Given the description of an element on the screen output the (x, y) to click on. 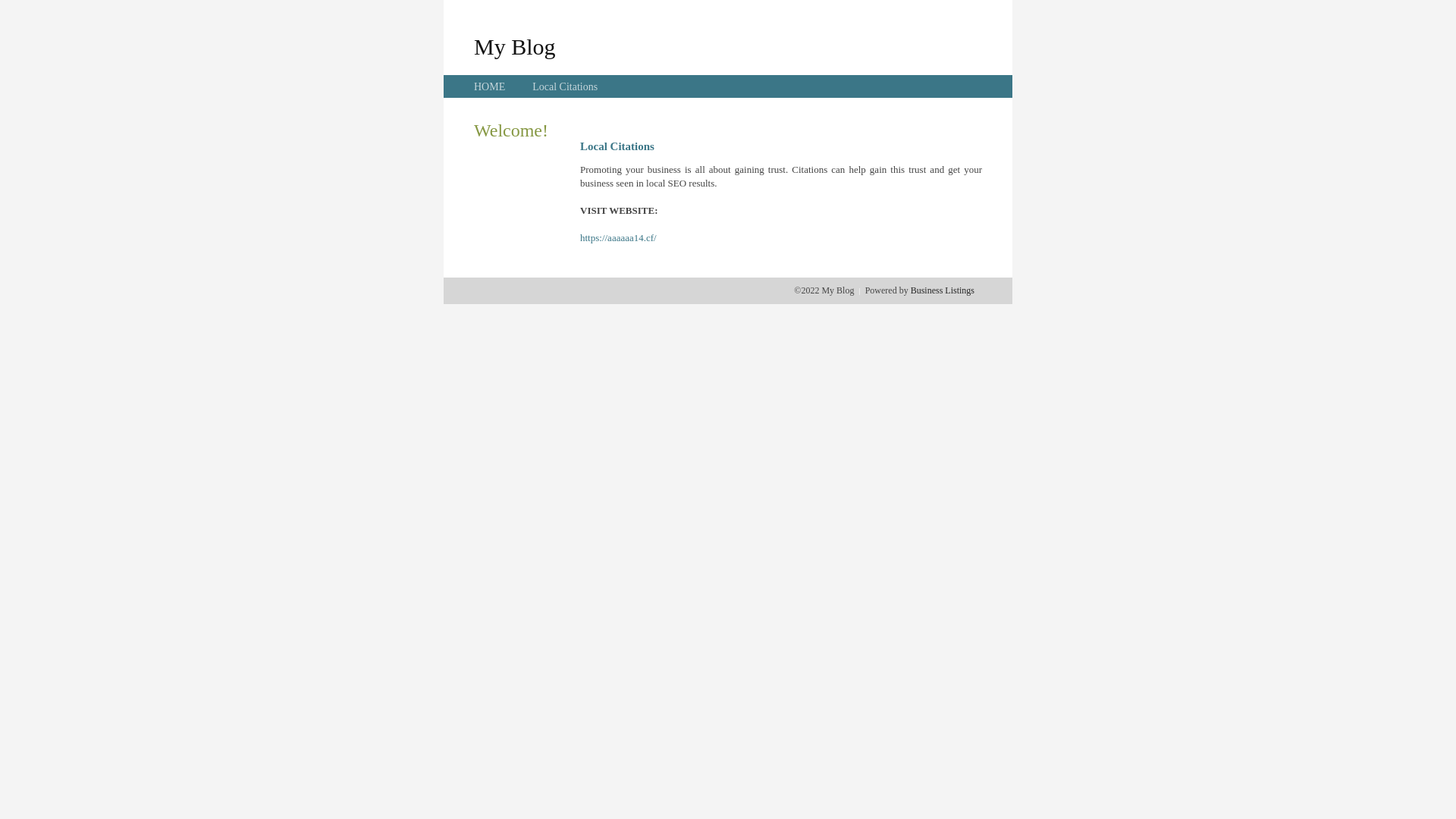
HOME Element type: text (489, 86)
My Blog Element type: text (514, 46)
https://aaaaaa14.cf/ Element type: text (618, 237)
Business Listings Element type: text (942, 290)
Local Citations Element type: text (564, 86)
